Given the description of an element on the screen output the (x, y) to click on. 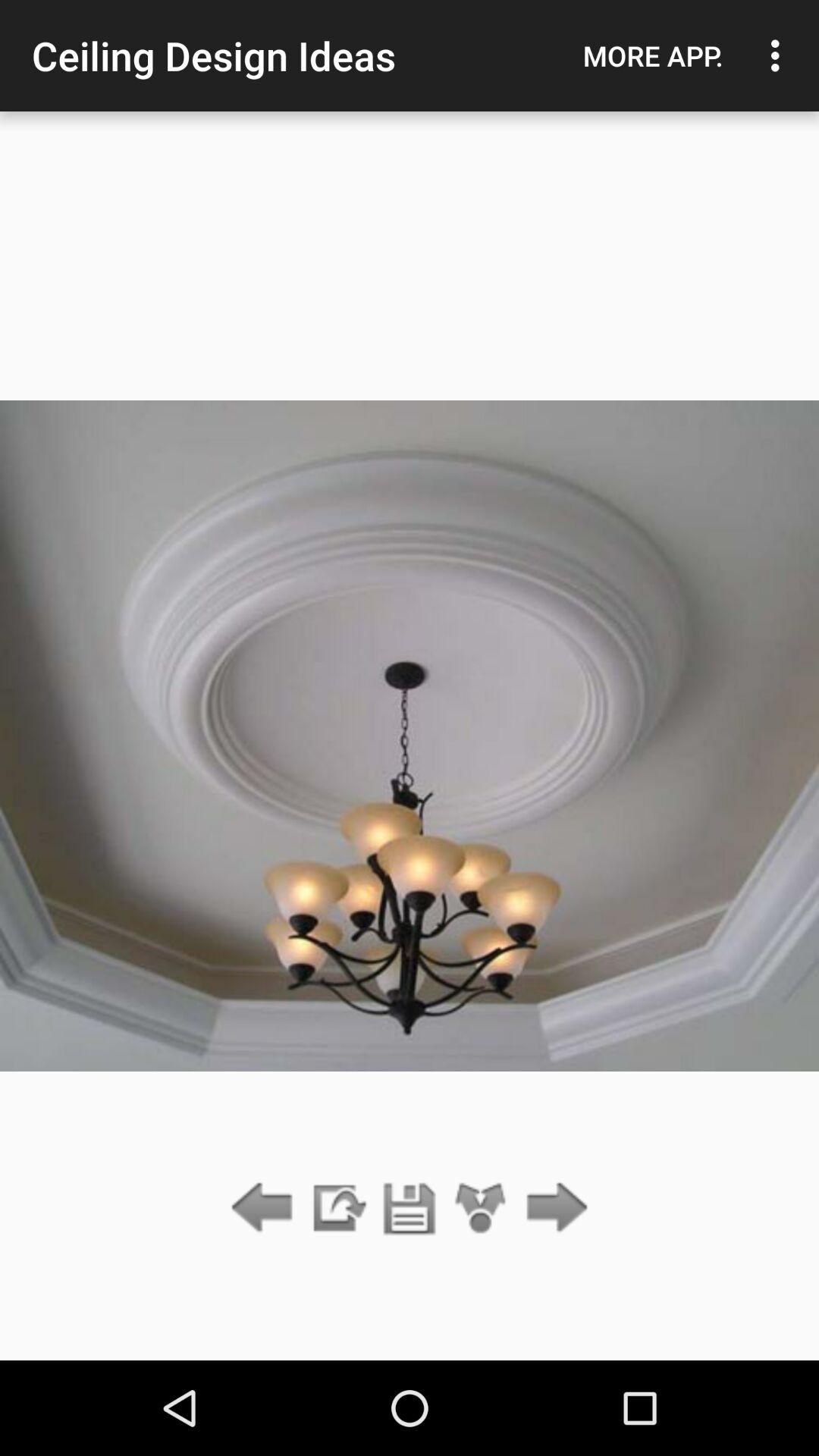
choose icon to the right of ceiling design ideas (653, 55)
